Given the description of an element on the screen output the (x, y) to click on. 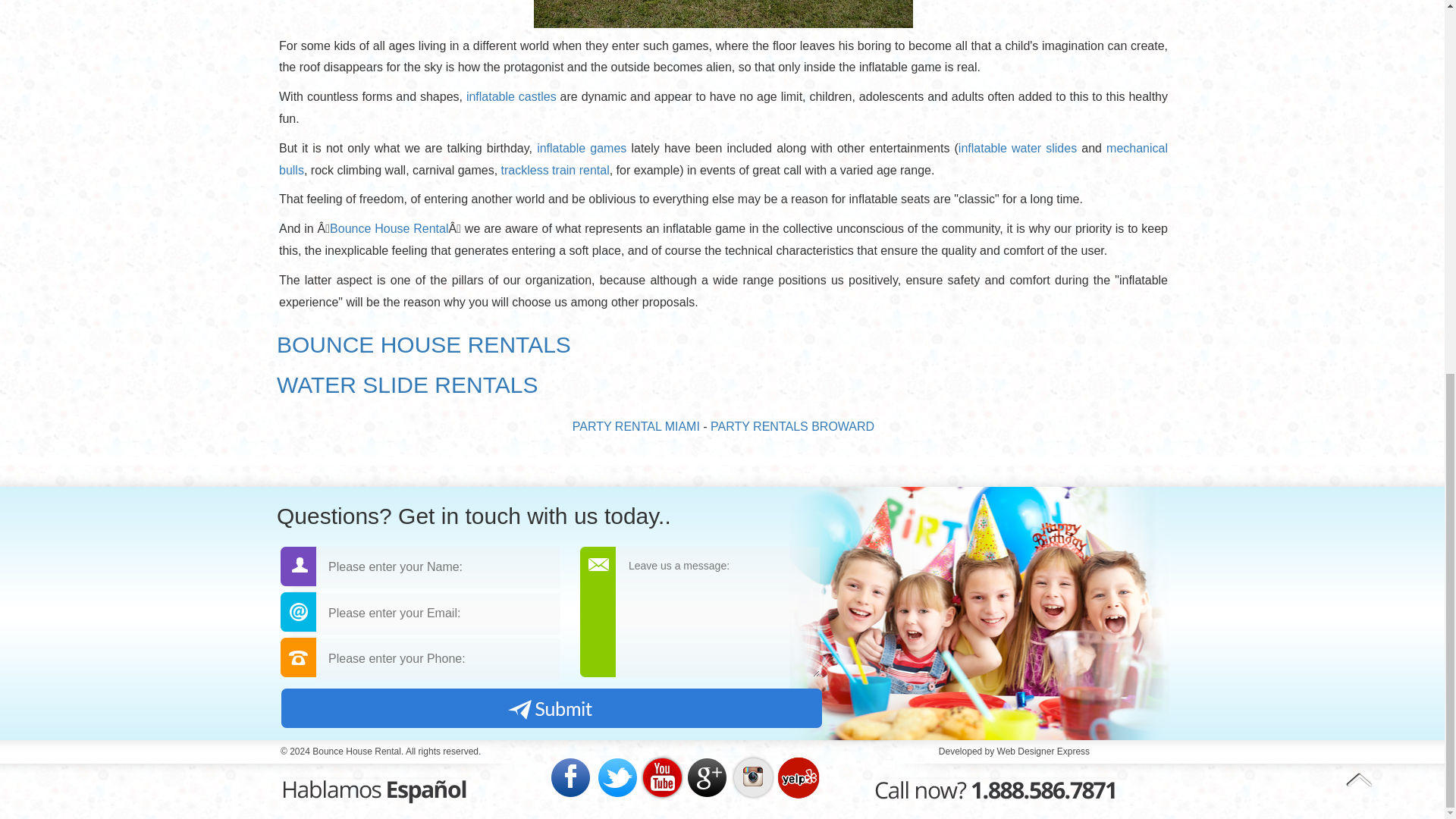
WATER SLIDE RENTALS (407, 384)
Bounce House Rental (389, 228)
inflatable castles (510, 96)
trackless train rental (555, 169)
inflatable games (581, 147)
mechanical bulls (723, 158)
BOUNCE HOUSE RENTALS (423, 344)
inflatable water slides (1017, 147)
submit (551, 708)
